Given the description of an element on the screen output the (x, y) to click on. 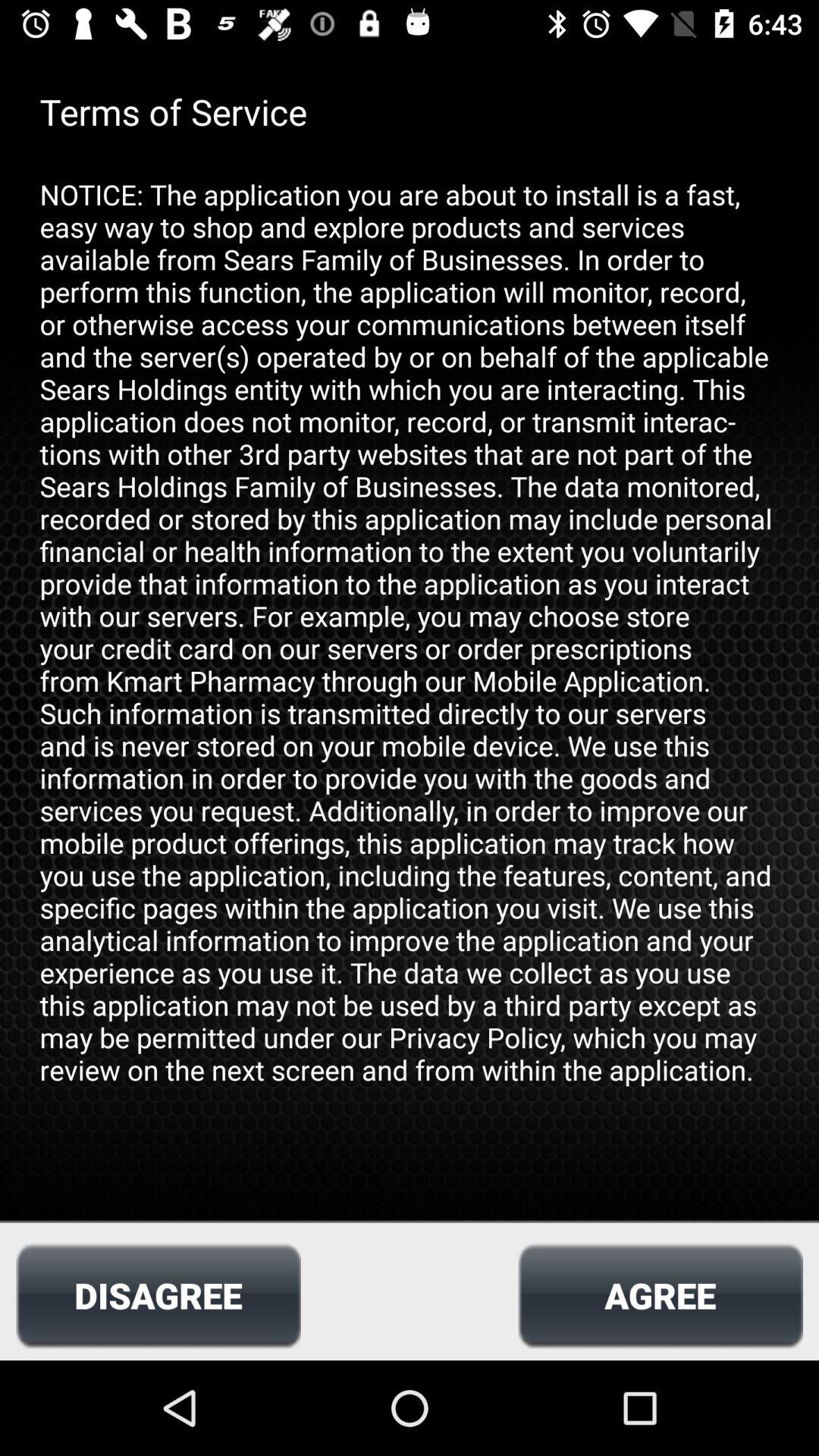
choose the icon next to agree item (157, 1295)
